Given the description of an element on the screen output the (x, y) to click on. 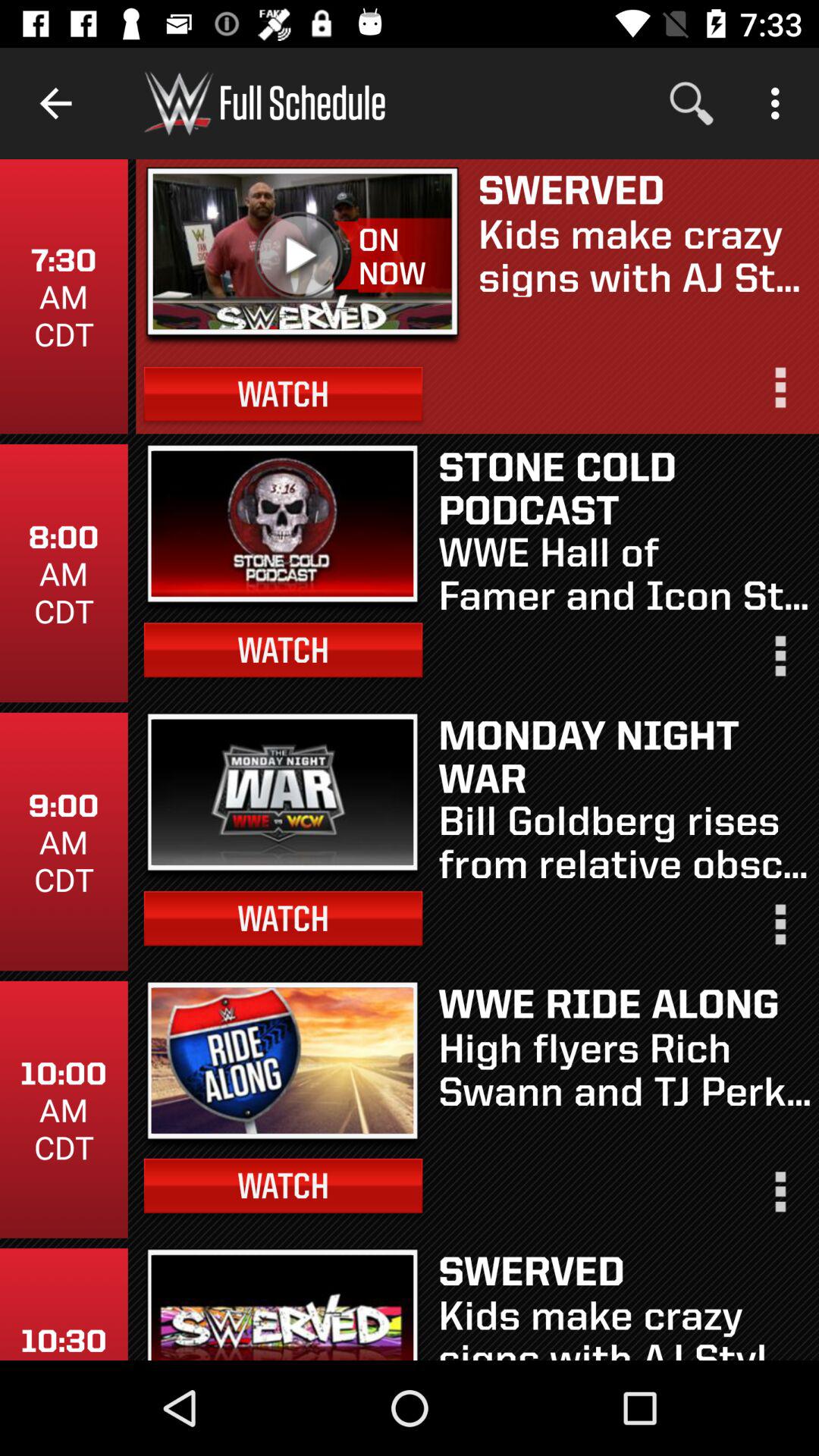
turn on the item to the right of the 7 30 am (302, 256)
